Given the description of an element on the screen output the (x, y) to click on. 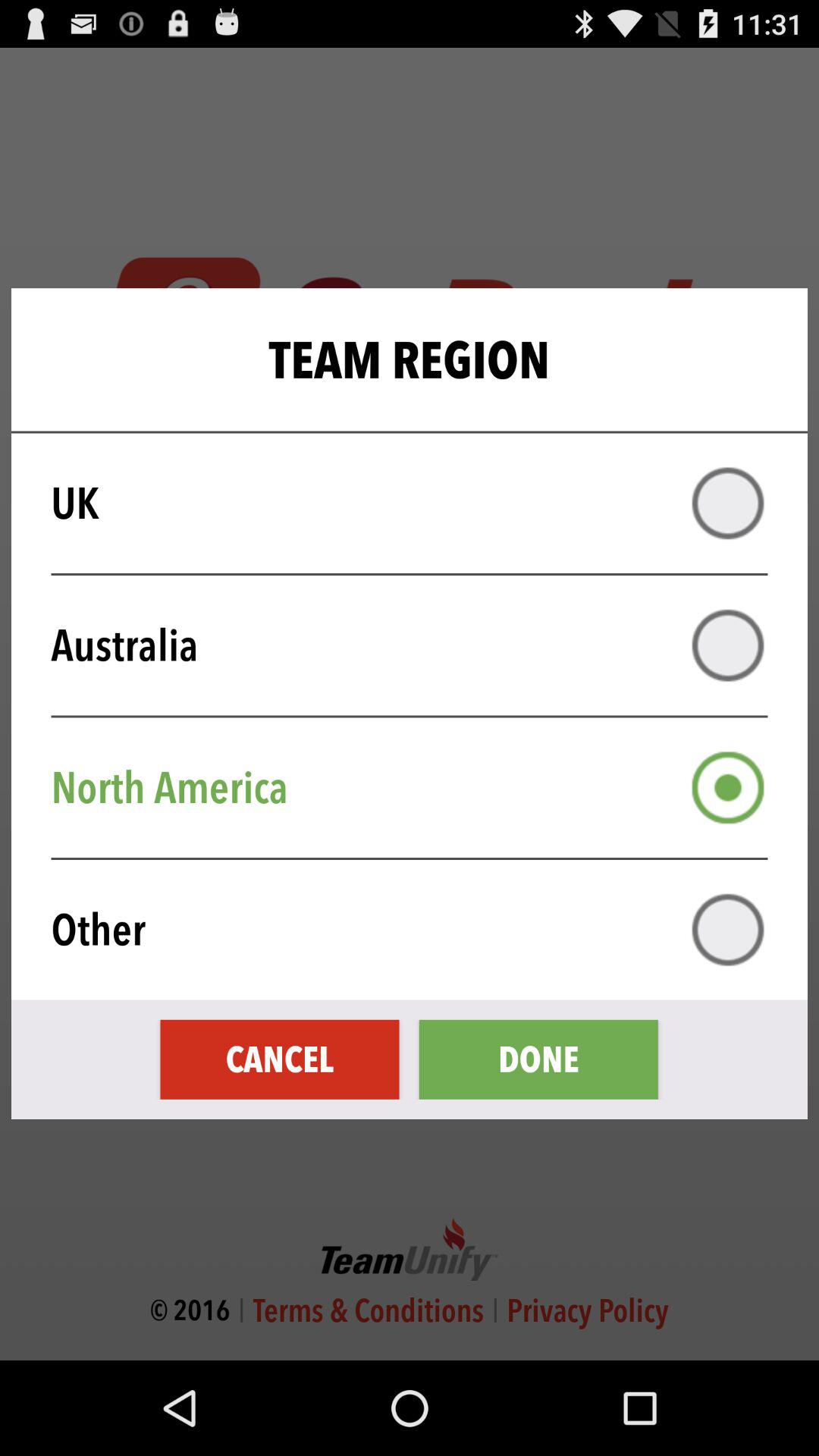
select option australia (727, 645)
